Given the description of an element on the screen output the (x, y) to click on. 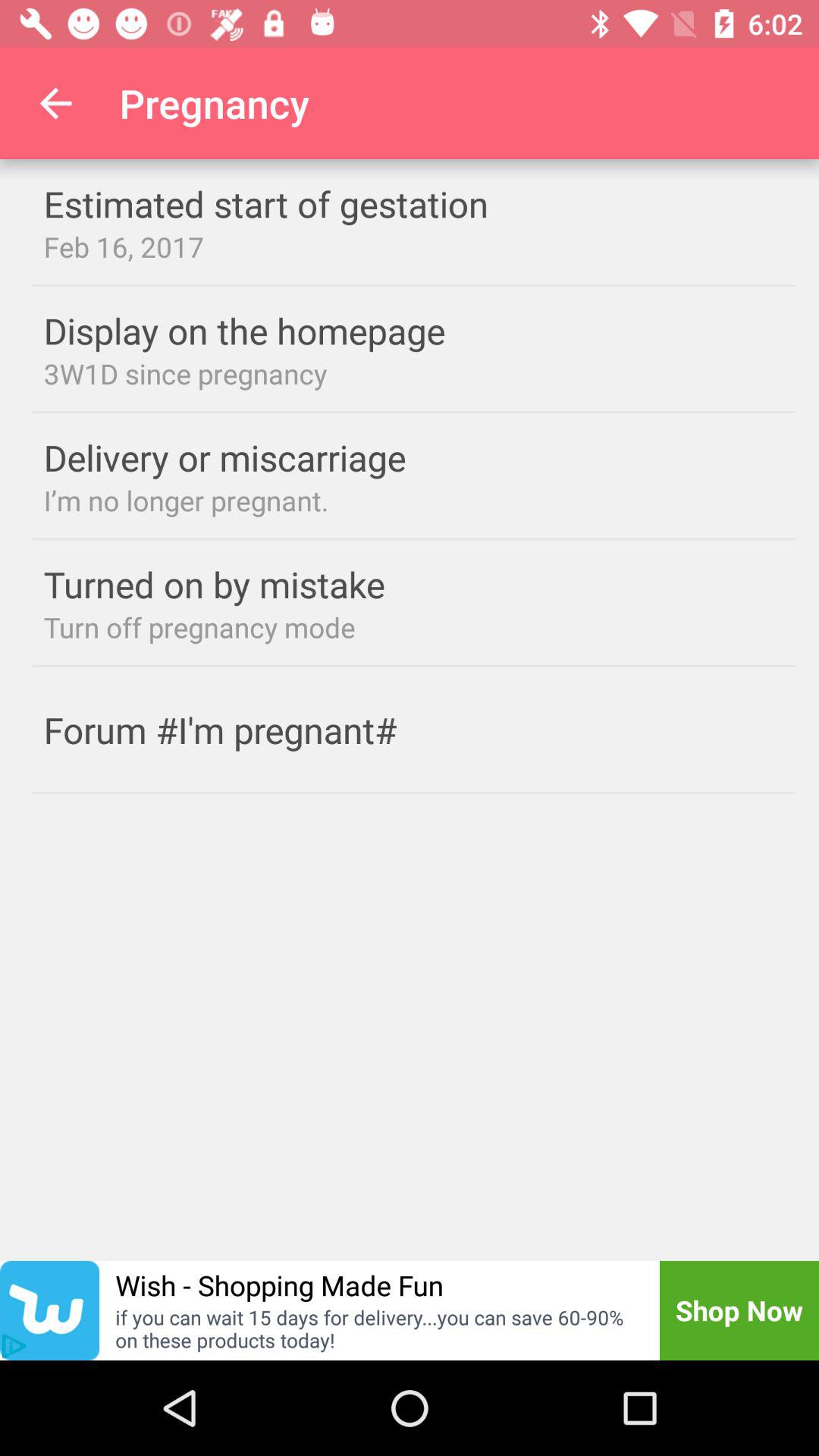
launch forum i m item (249, 729)
